Given the description of an element on the screen output the (x, y) to click on. 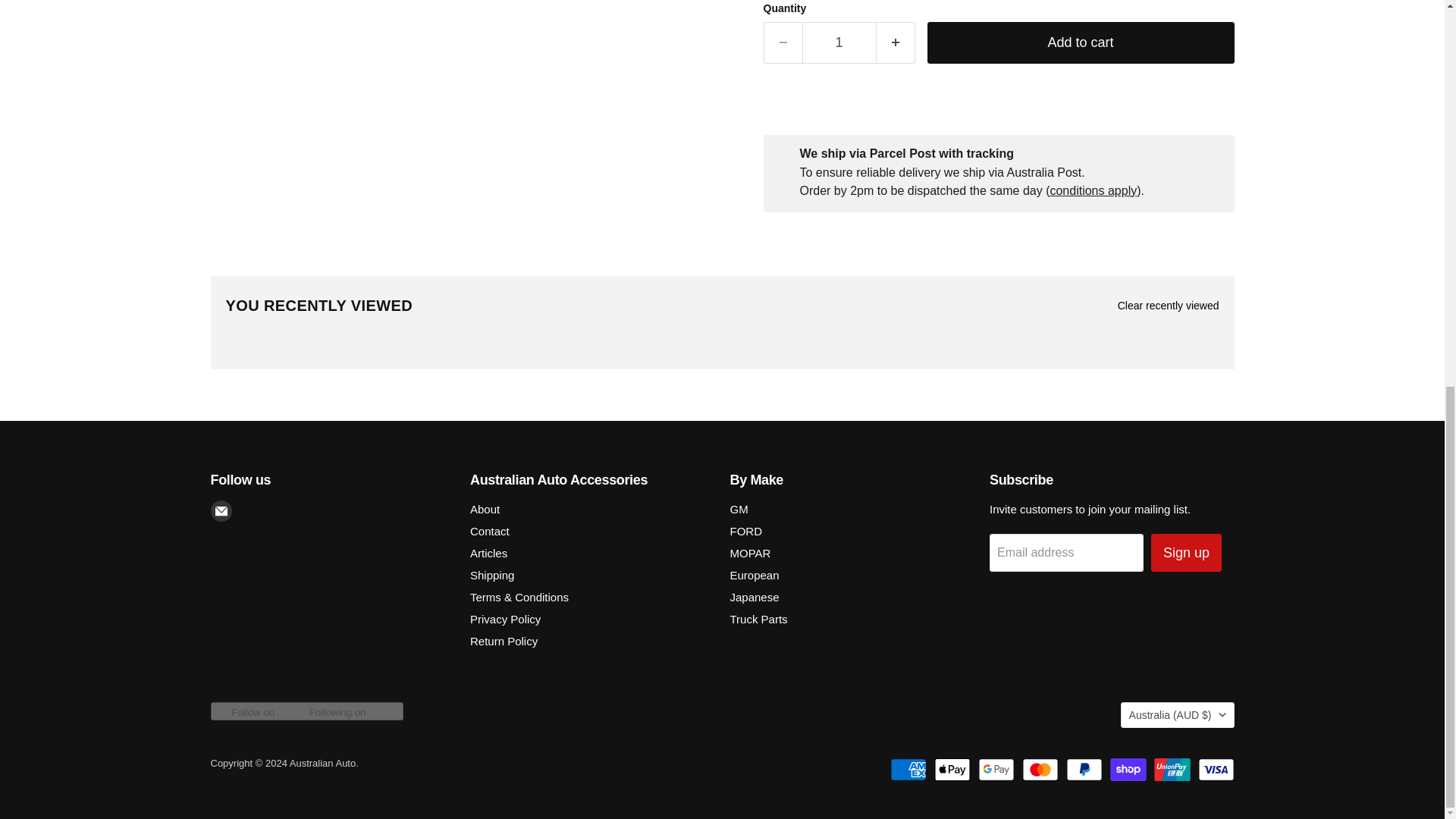
Email (221, 510)
American Express (907, 769)
Apple Pay (952, 769)
Google Pay (996, 769)
1 (839, 42)
